Given the description of an element on the screen output the (x, y) to click on. 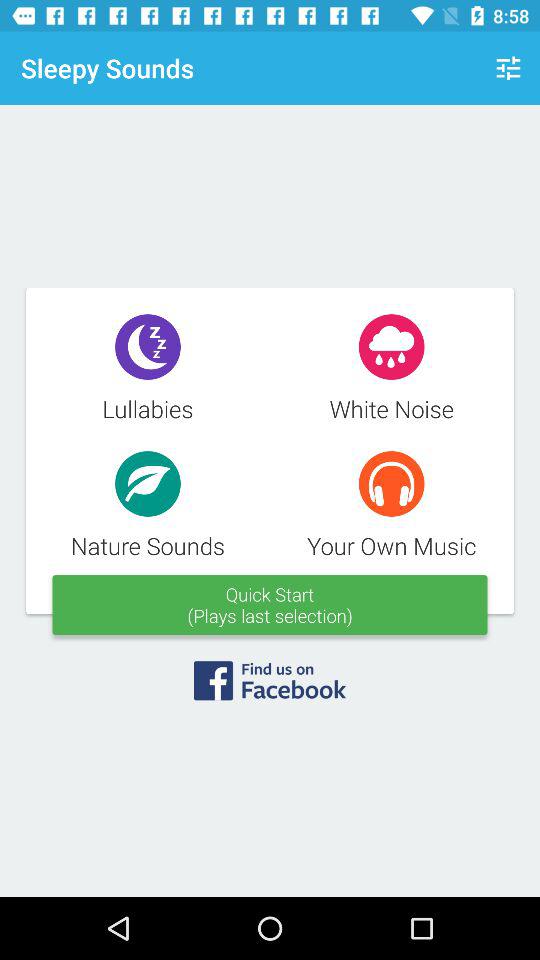
turn on the icon to the right of the sleepy sounds item (508, 67)
